Given the description of an element on the screen output the (x, y) to click on. 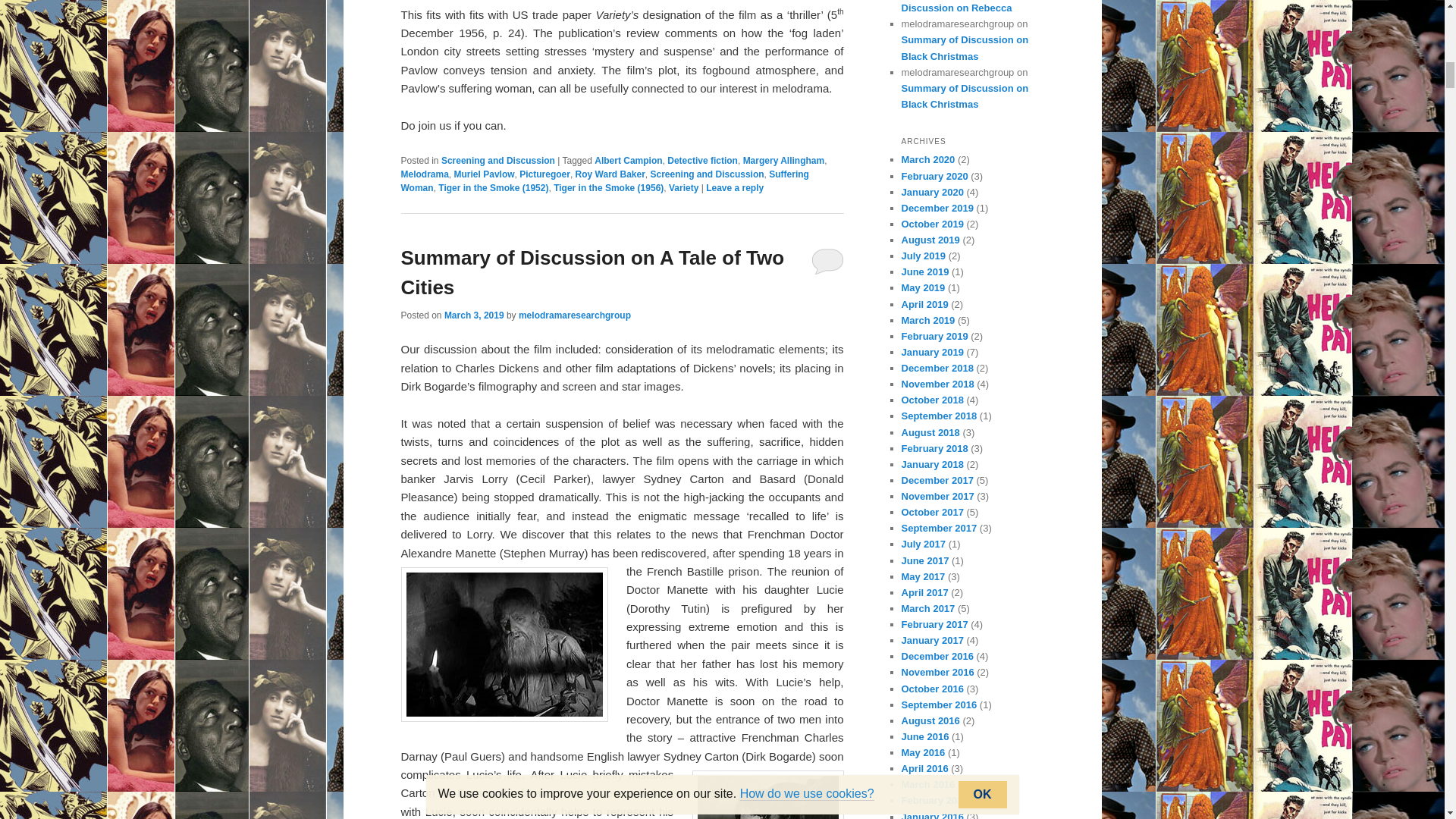
Picturegoer (544, 173)
Detective fiction (702, 160)
Suffering Woman (604, 180)
Leave a reply (734, 187)
melodramaresearchgroup (574, 315)
Screening and Discussion (707, 173)
Variety (683, 187)
Screening and Discussion (497, 160)
March 3, 2019 (473, 315)
Margery Allingham (783, 160)
View all posts by melodramaresearchgroup (574, 315)
Summary of Discussion on A Tale of Two Cities (592, 272)
Albert Campion (628, 160)
Roy Ward Baker (610, 173)
9:22 am (473, 315)
